Given the description of an element on the screen output the (x, y) to click on. 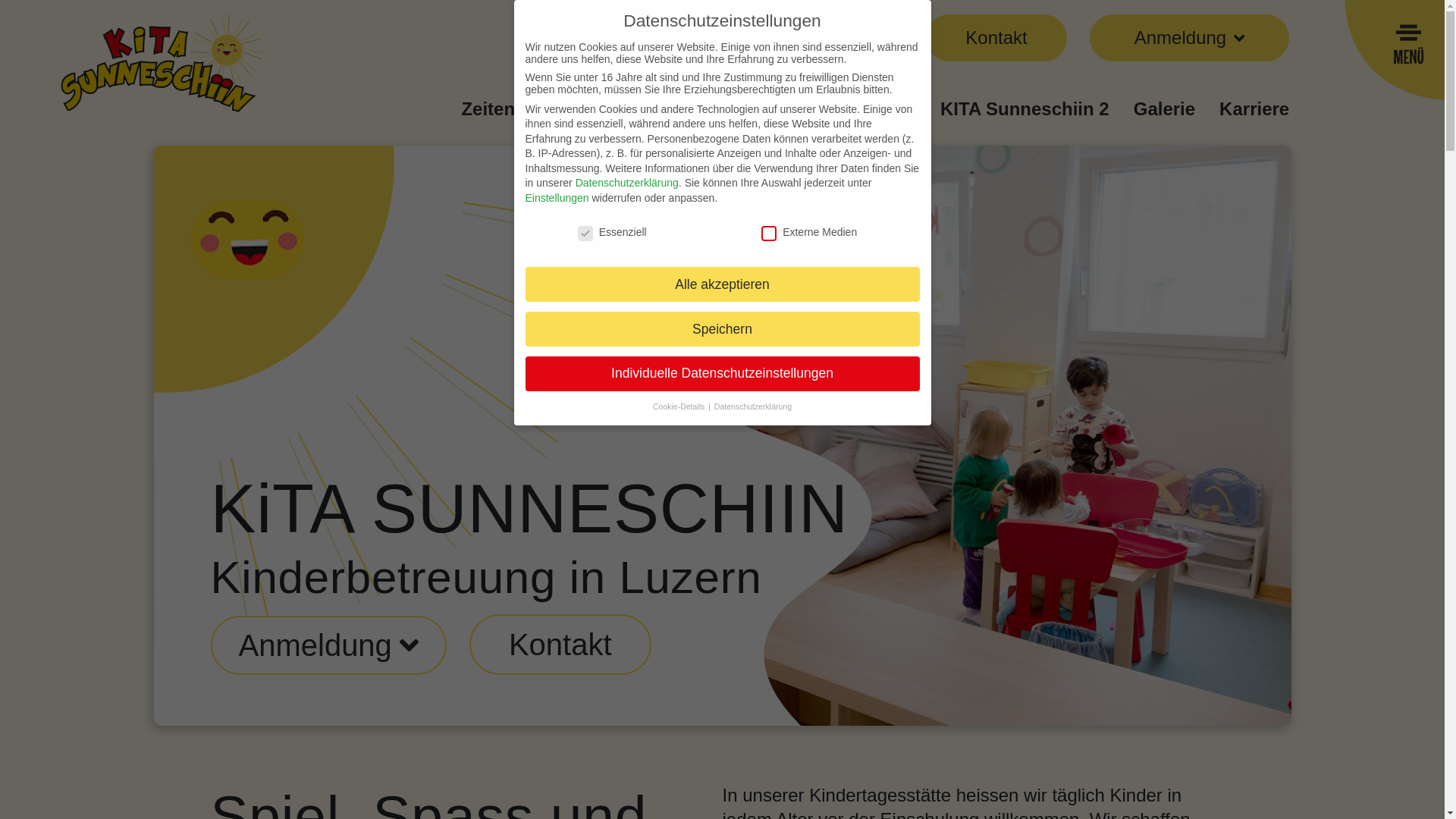
Einstellungen Element type: text (556, 197)
Anmeldung Element type: text (1189, 37)
KITA Sunneschiin 2 Element type: text (1024, 108)
Kontakt Element type: text (995, 37)
Karriere Element type: text (1254, 108)
Speichern Element type: text (721, 328)
Galerie Element type: text (1164, 108)
Anmeldung Element type: text (1180, 37)
Anmeldung Element type: text (328, 644)
Cookie-Details Element type: text (679, 406)
Zeiten und Tarife Element type: text (533, 108)
KITA Sunneschiin 1 Element type: text (831, 108)
Kontakt Element type: text (560, 644)
Anmeldung Element type: text (314, 645)
Individuelle Datenschutzeinstellungen Element type: text (721, 373)
Alle akzeptieren Element type: text (721, 283)
